Given the description of an element on the screen output the (x, y) to click on. 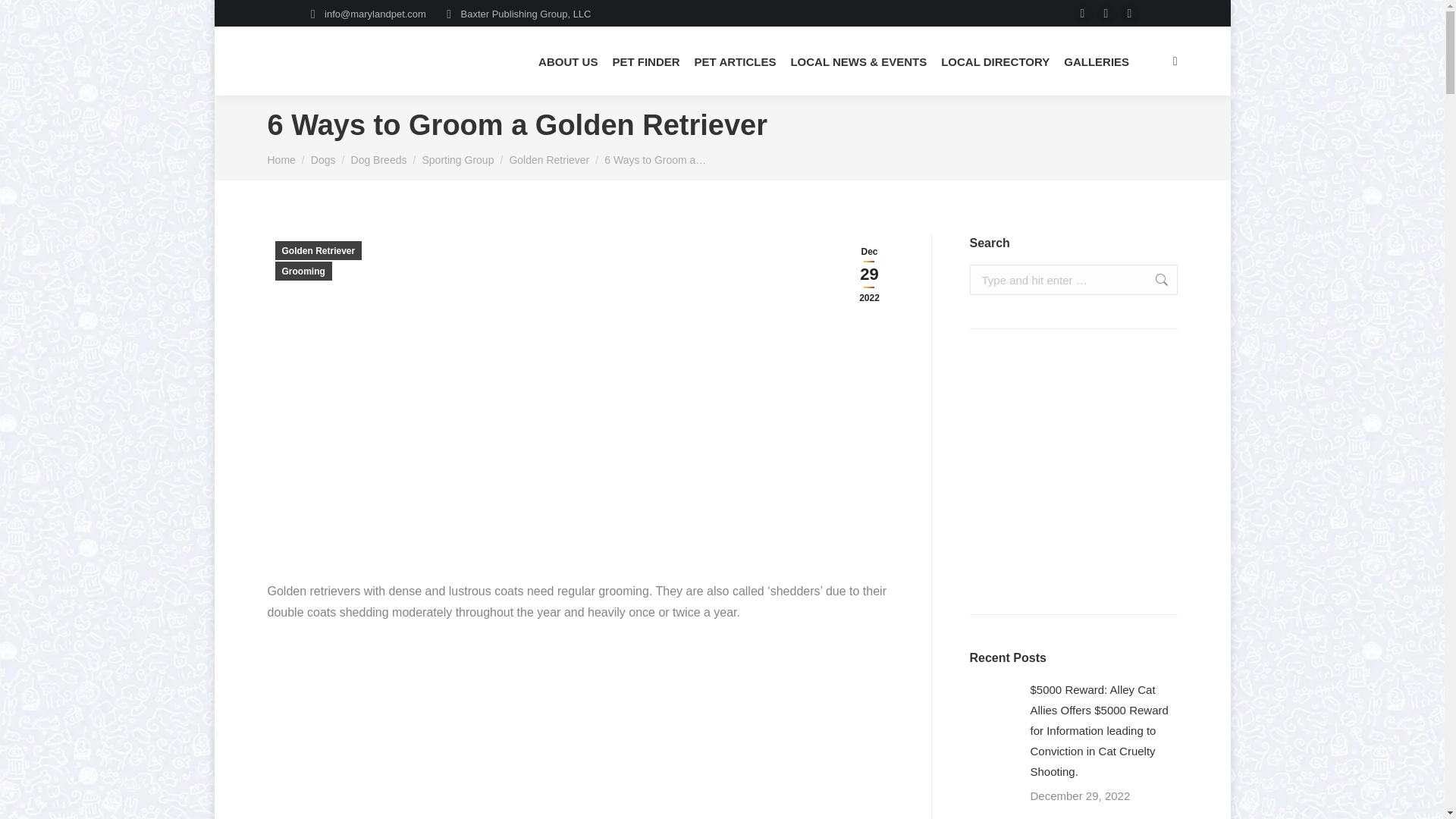
Dogs (323, 159)
Facebook page opens in new window (1083, 13)
Dog Breeds (378, 159)
Golden Retriever (548, 159)
Pinterest page opens in new window (1129, 13)
Go! (1153, 279)
PET FINDER (645, 61)
Home (280, 159)
X page opens in new window (1106, 13)
ABOUT US (567, 61)
